Given the description of an element on the screen output the (x, y) to click on. 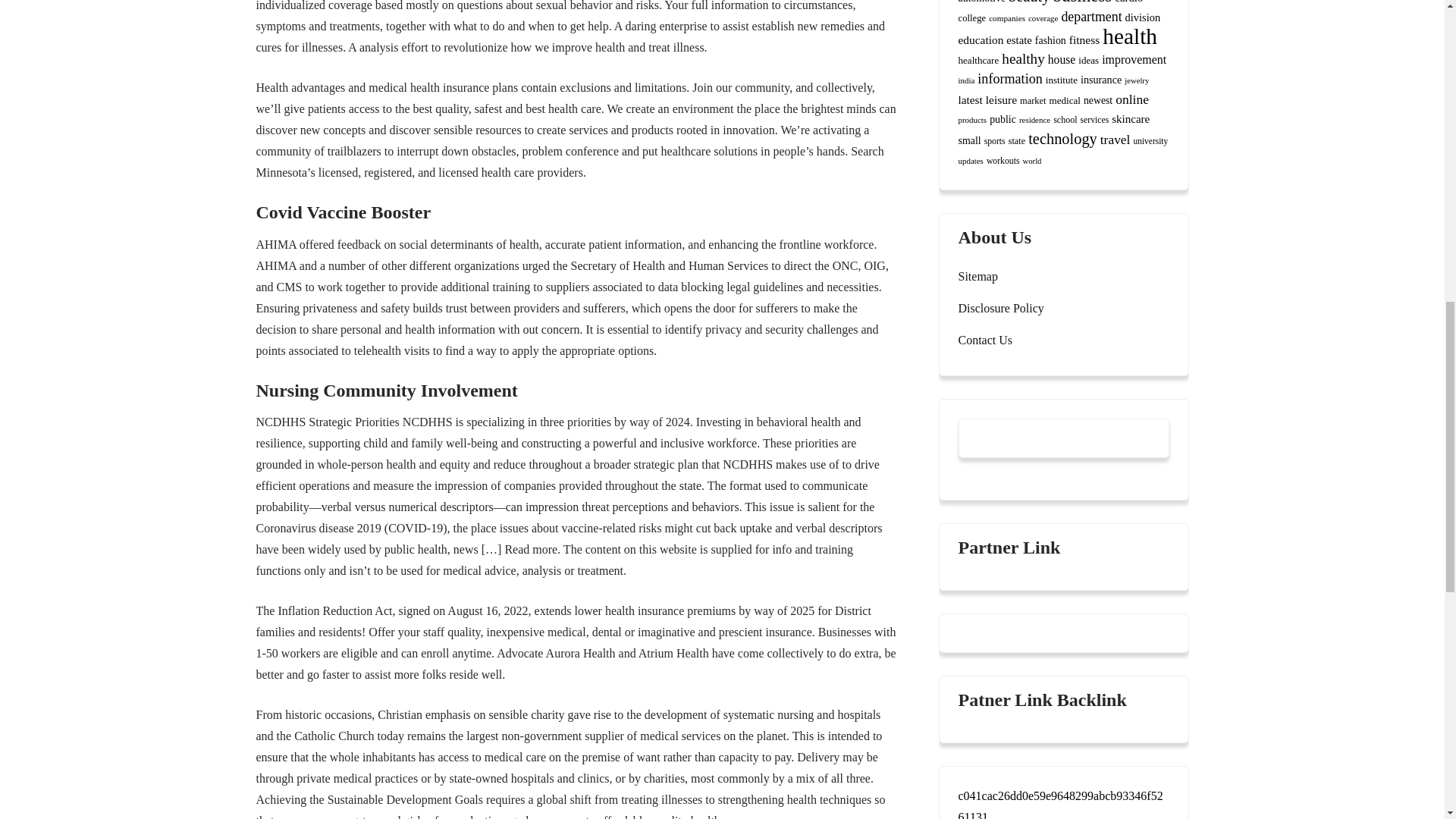
fitness (1084, 39)
health (1129, 36)
business (1082, 2)
healthcare (978, 60)
fashion (1050, 40)
college (972, 18)
beauty (1029, 2)
automotive (982, 2)
department (1091, 16)
house (1061, 59)
